Given the description of an element on the screen output the (x, y) to click on. 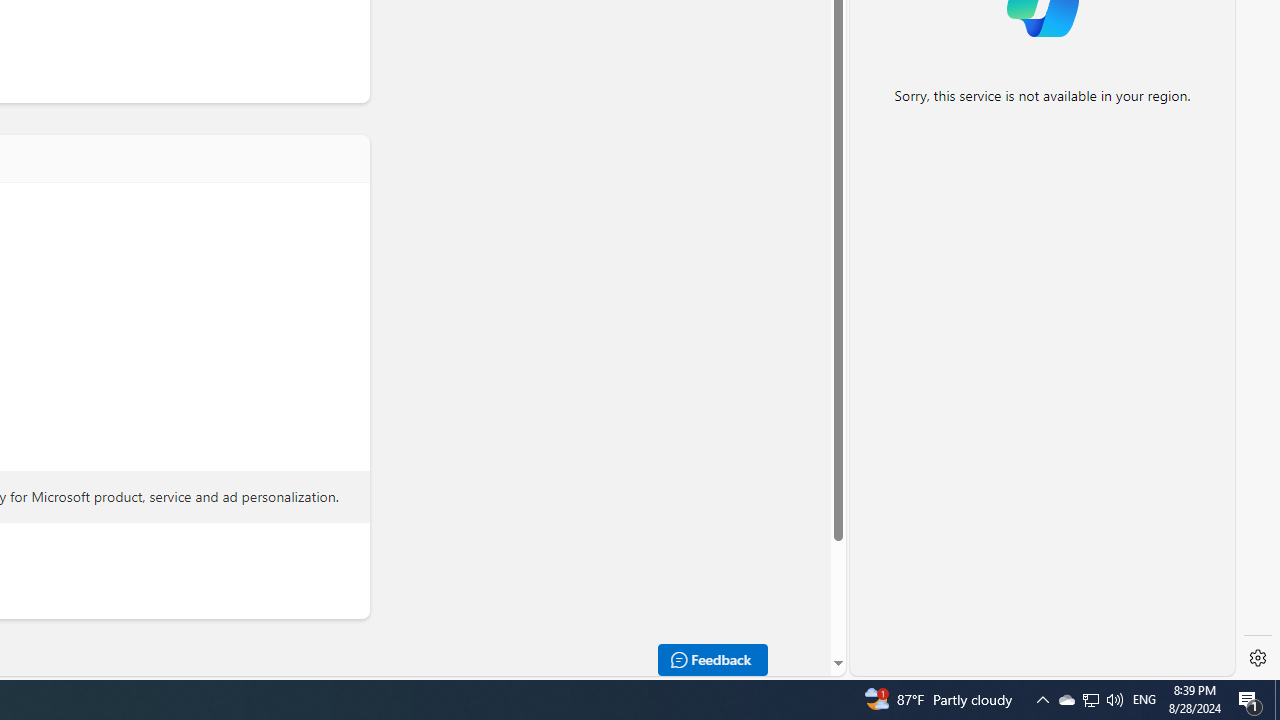
Settings (1258, 658)
